Given the description of an element on the screen output the (x, y) to click on. 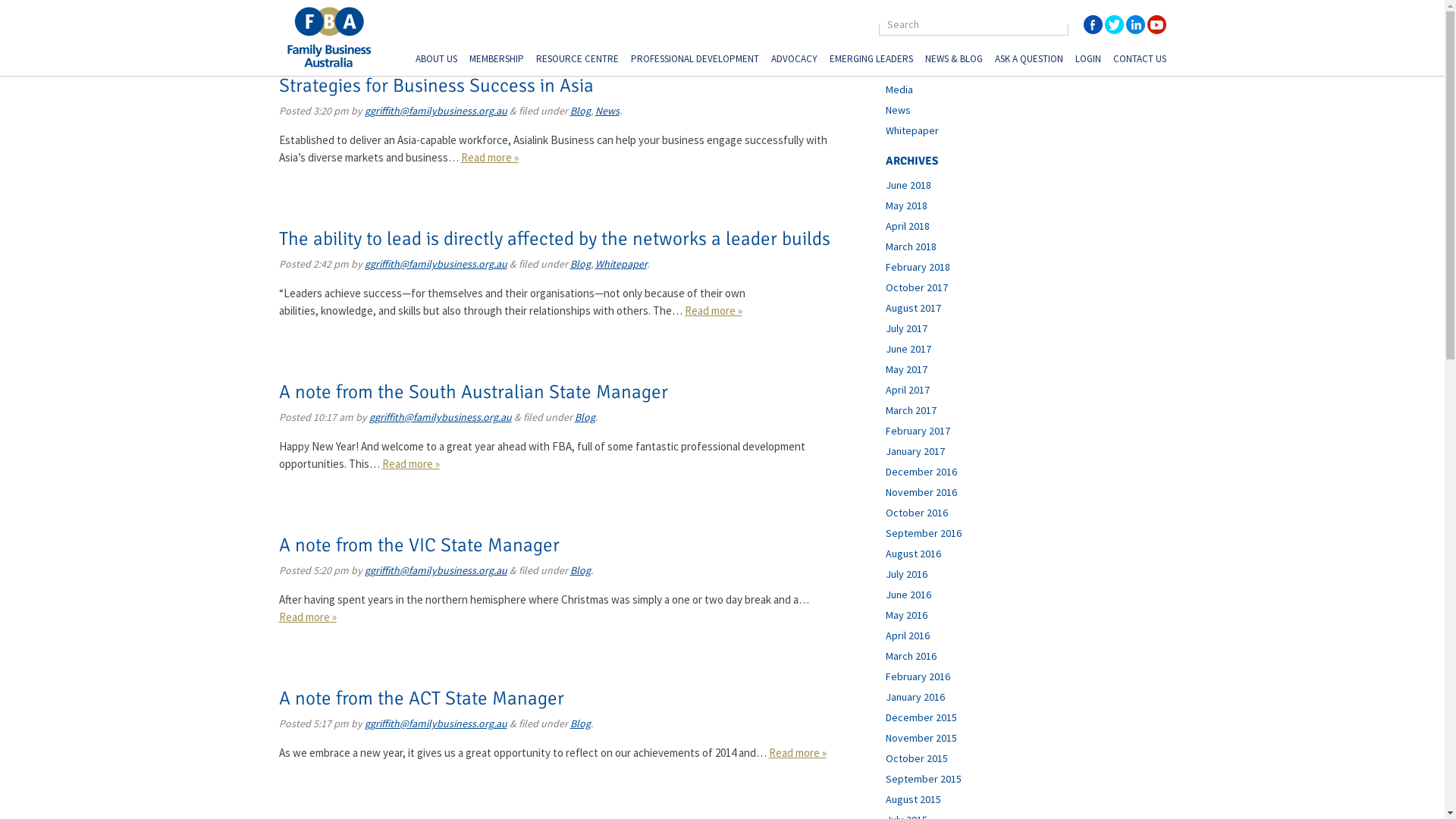
August 2016 Element type: text (913, 553)
Blog Element type: text (584, 416)
ggriffith@familybusiness.org.au Element type: text (435, 723)
Blog Element type: text (580, 723)
ABOUT US Element type: text (436, 60)
December 2015 Element type: text (921, 717)
Whitepaper Element type: text (620, 263)
March 2016 Element type: text (910, 655)
RESOURCE CENTRE Element type: text (576, 60)
April 2017 Element type: text (907, 389)
February 2017 Element type: text (917, 430)
February 2016 Element type: text (917, 676)
October 2015 Element type: text (916, 758)
April 2018 Element type: text (907, 225)
August 2015 Element type: text (913, 799)
A note from the VIC State Manager Element type: text (419, 544)
ggriffith@familybusiness.org.au Element type: text (435, 263)
May 2018 Element type: text (906, 205)
Whitepaper Element type: text (911, 130)
January 2017 Element type: text (914, 451)
November 2016 Element type: text (921, 491)
EMERGING LEADERS Element type: text (871, 60)
October 2017 Element type: text (916, 287)
May 2016 Element type: text (906, 614)
April 2016 Element type: text (907, 635)
June 2016 Element type: text (908, 594)
December 2016 Element type: text (921, 471)
ADVOCACY Element type: text (793, 60)
News Element type: text (897, 109)
June 2018 Element type: text (908, 184)
ggriffith@familybusiness.org.au Element type: text (435, 110)
ggriffith@familybusiness.org.au Element type: text (435, 570)
NEWS & BLOG Element type: text (953, 60)
LOGIN Element type: text (1088, 60)
Media Element type: text (899, 89)
May 2017 Element type: text (906, 369)
Blog Element type: text (580, 570)
A note from the South Australian State Manager Element type: text (473, 391)
PROFESSIONAL DEVELOPMENT Element type: text (694, 60)
A note from the ACT State Manager Element type: text (421, 697)
November 2015 Element type: text (921, 737)
March 2017 Element type: text (910, 410)
July 2017 Element type: text (906, 328)
January 2016 Element type: text (914, 696)
September 2015 Element type: text (923, 778)
August 2017 Element type: text (913, 307)
Blog Element type: text (895, 48)
September 2016 Element type: text (923, 532)
Blog Element type: text (580, 110)
June 2017 Element type: text (908, 348)
March 2018 Element type: text (910, 246)
ggriffith@familybusiness.org.au Element type: text (439, 416)
CONTACT US Element type: text (1139, 60)
News Element type: text (606, 110)
October 2016 Element type: text (916, 512)
Strategies for Business Success in Asia Element type: text (436, 85)
July 2016 Element type: text (906, 573)
February 2018 Element type: text (917, 266)
Case Study Element type: text (911, 68)
Blog Element type: text (580, 263)
ASK A QUESTION Element type: text (1028, 60)
MEMBERSHIP Element type: text (495, 60)
